Given the description of an element on the screen output the (x, y) to click on. 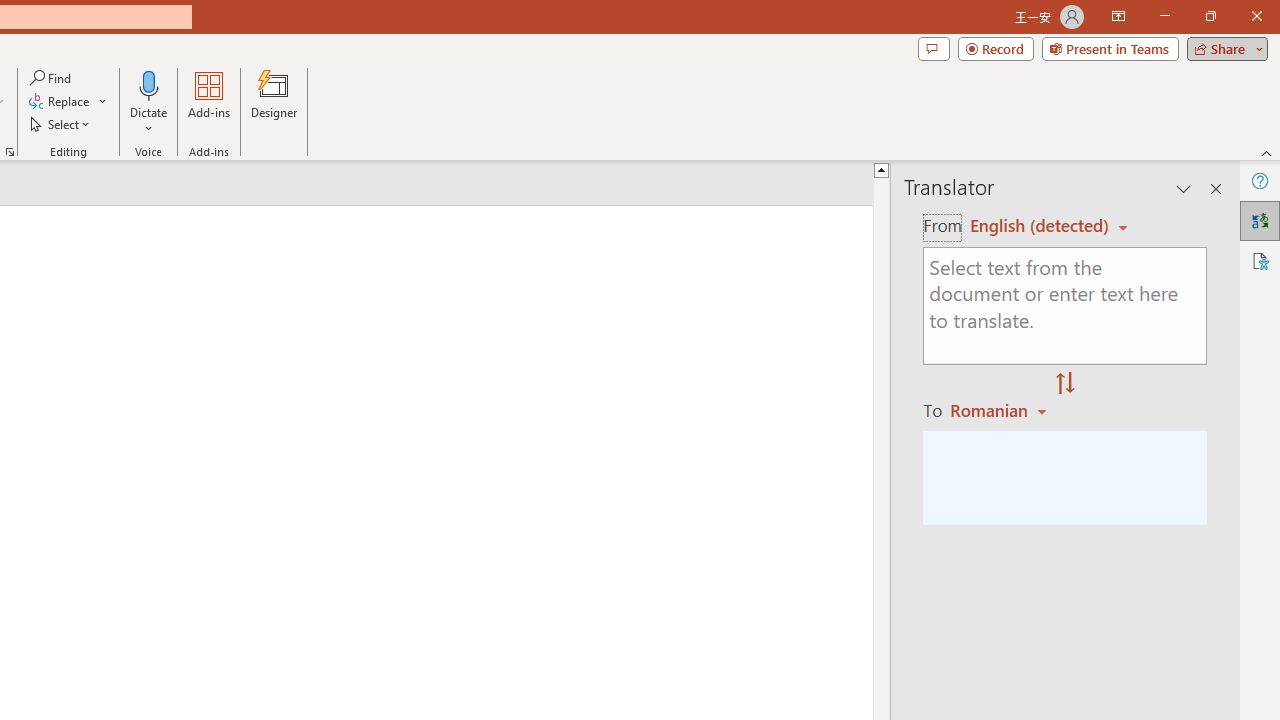
Share (1223, 48)
Translator (1260, 220)
Close (1256, 16)
Swap "from" and "to" languages. (1065, 383)
Comments (933, 48)
Czech (detected) (1039, 225)
Format Object... (9, 151)
Close pane (1215, 188)
Replace... (68, 101)
Romanian (1001, 409)
Minimize (1164, 16)
